Given the description of an element on the screen output the (x, y) to click on. 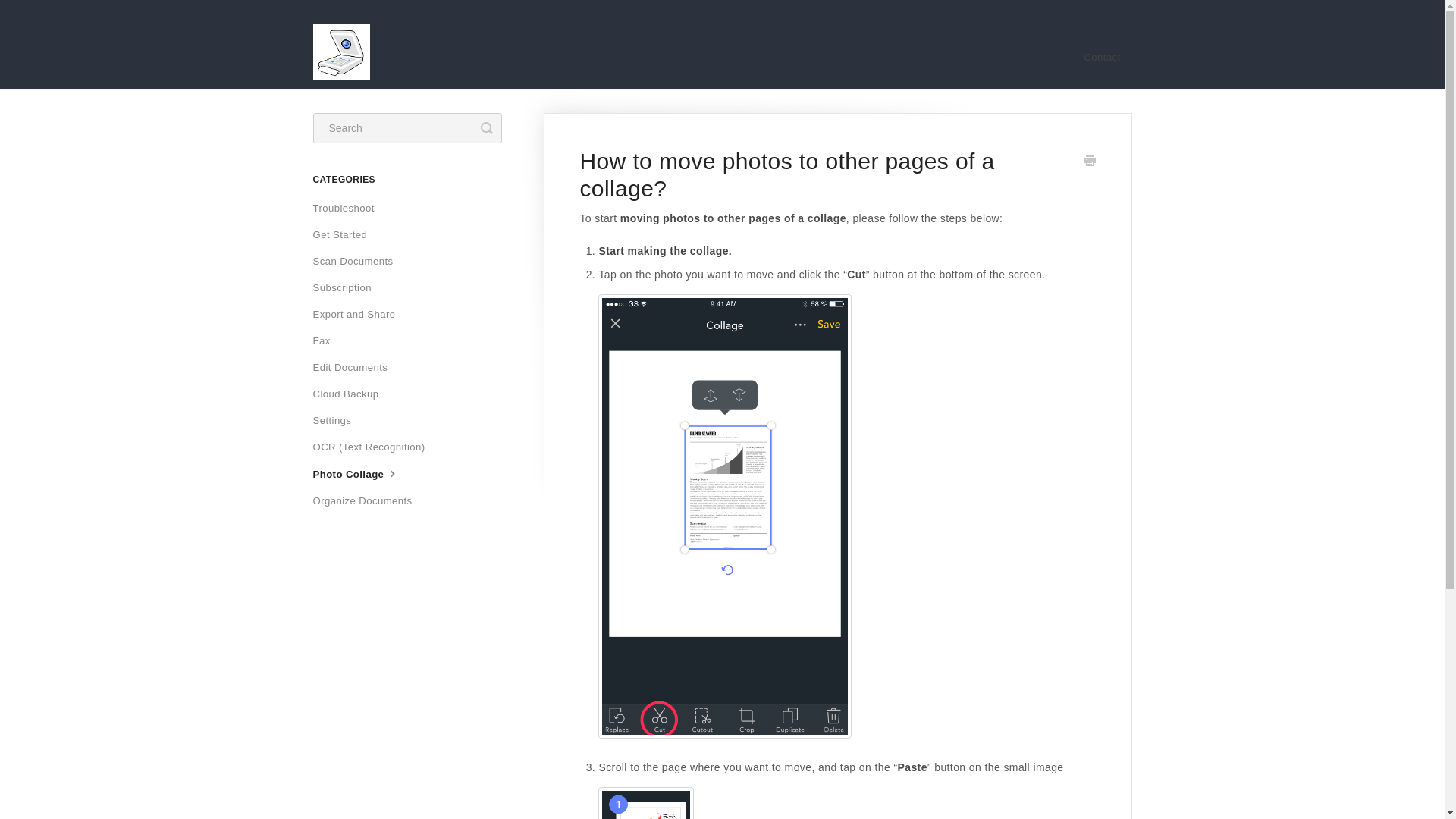
Settings (337, 420)
Fax (326, 340)
Troubleshoot (349, 208)
Get Started (345, 234)
Cloud Backup (351, 394)
search-query (406, 128)
Scan Documents (358, 261)
Contact (1101, 57)
Export and Share (359, 314)
Subscription (347, 288)
